Given the description of an element on the screen output the (x, y) to click on. 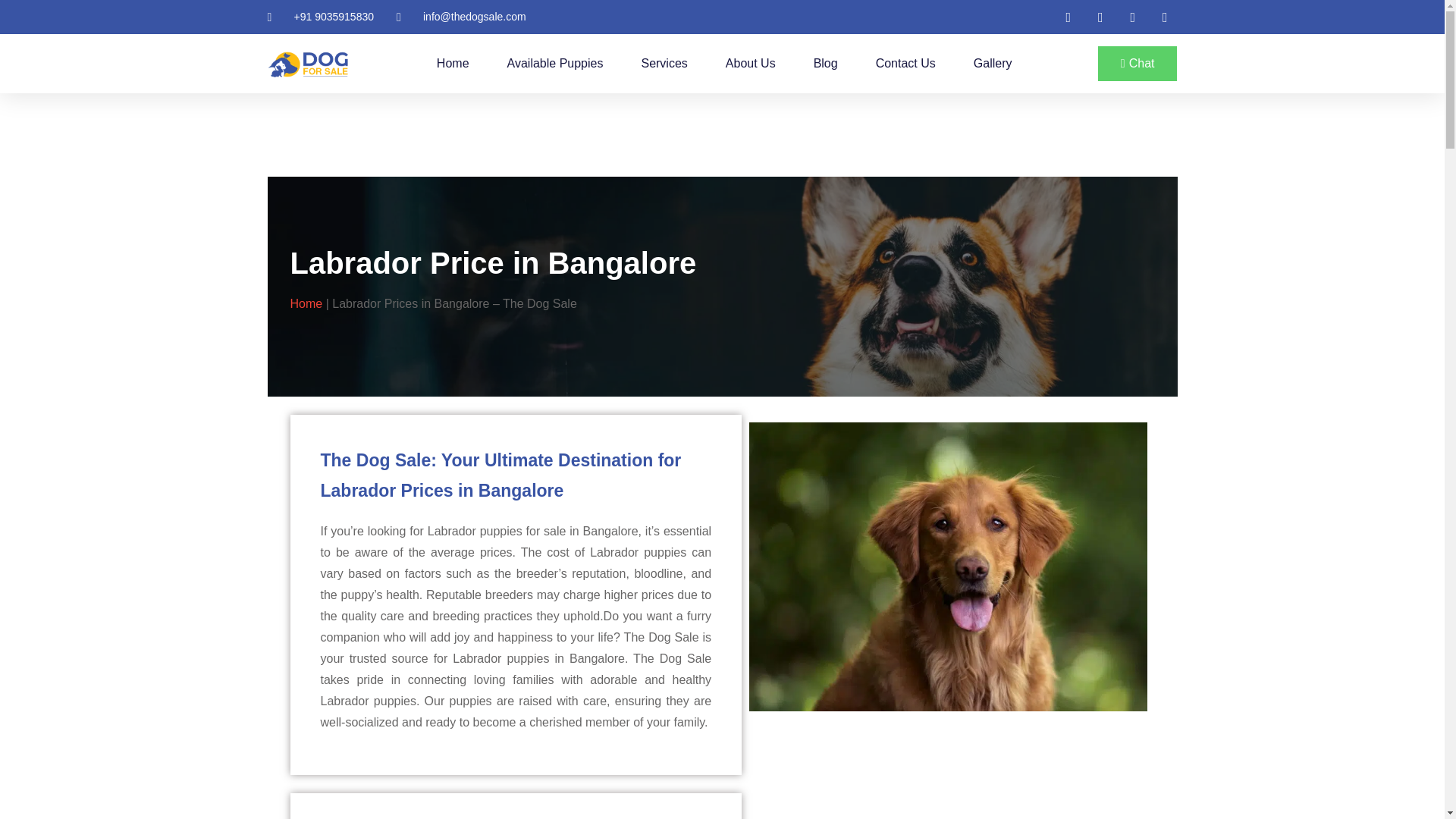
Contact Us (906, 63)
Available Puppies (555, 63)
Home (452, 63)
Services (663, 63)
About Us (750, 63)
Gallery (992, 63)
